Given the description of an element on the screen output the (x, y) to click on. 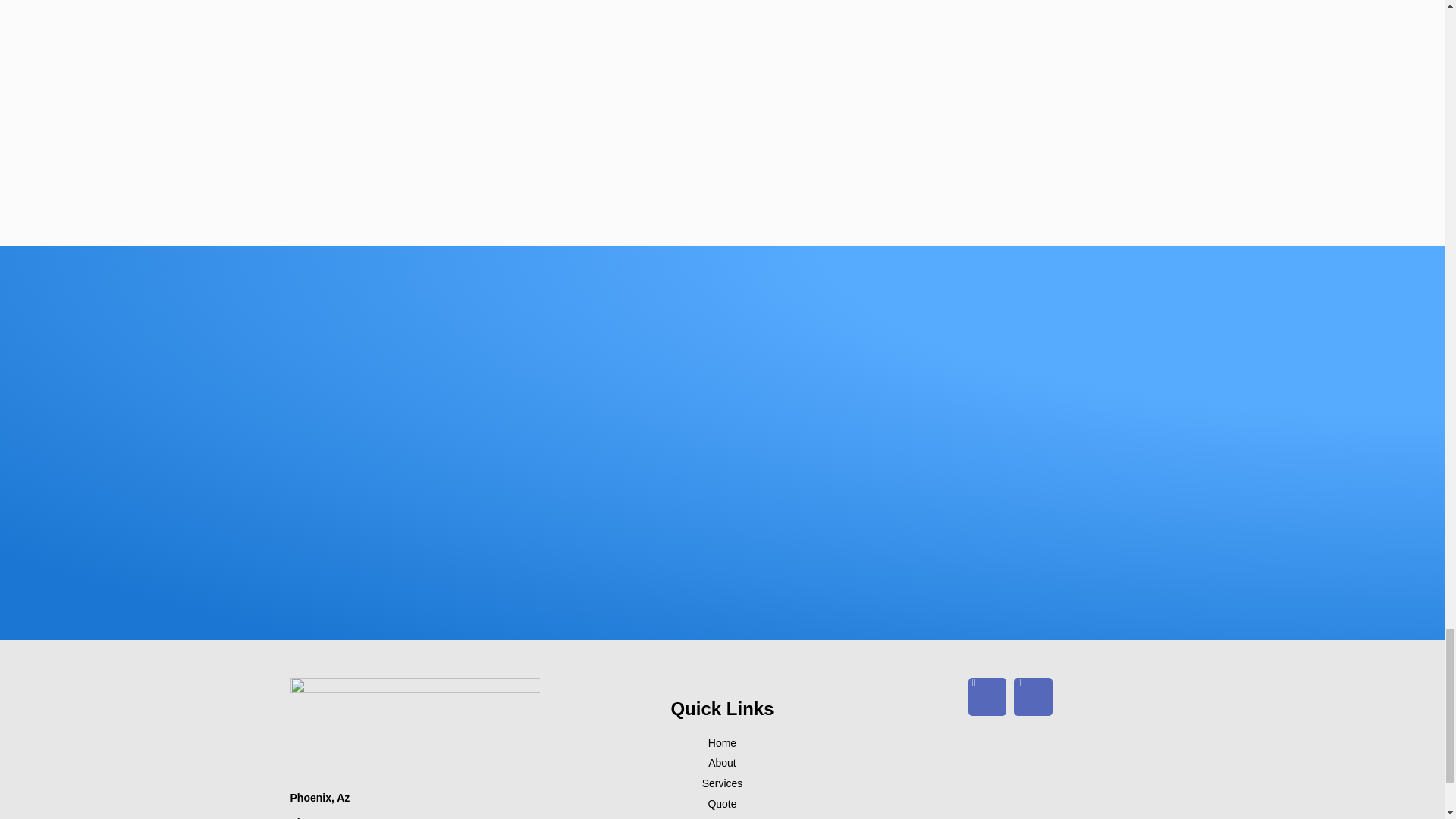
About (722, 762)
Facebook (987, 696)
480 819 3551 (361, 817)
Home (722, 743)
Services (722, 783)
Reviews (722, 816)
Instagram (1032, 696)
Quote (722, 803)
